Given the description of an element on the screen output the (x, y) to click on. 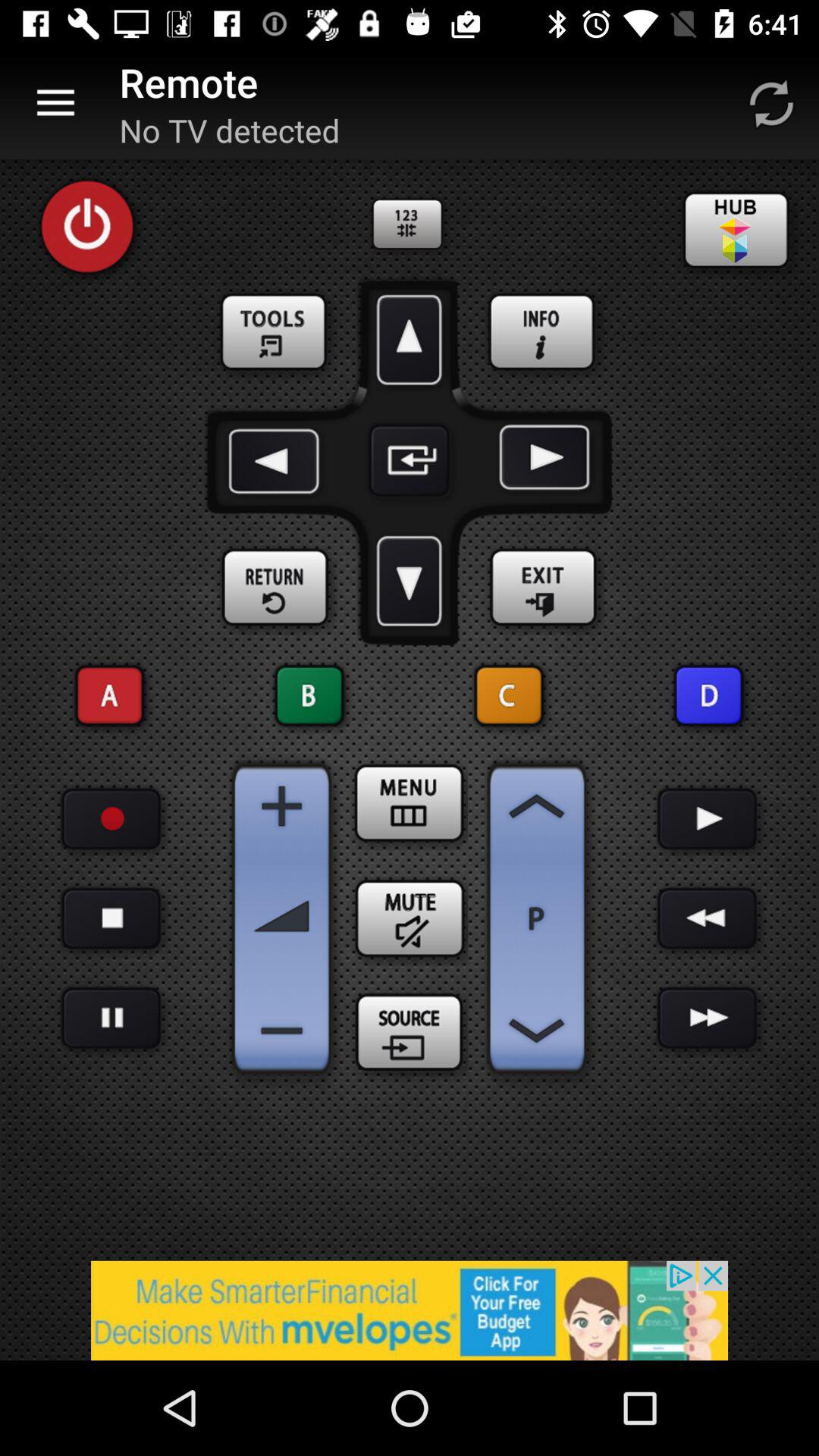
change source (409, 1034)
